Given the description of an element on the screen output the (x, y) to click on. 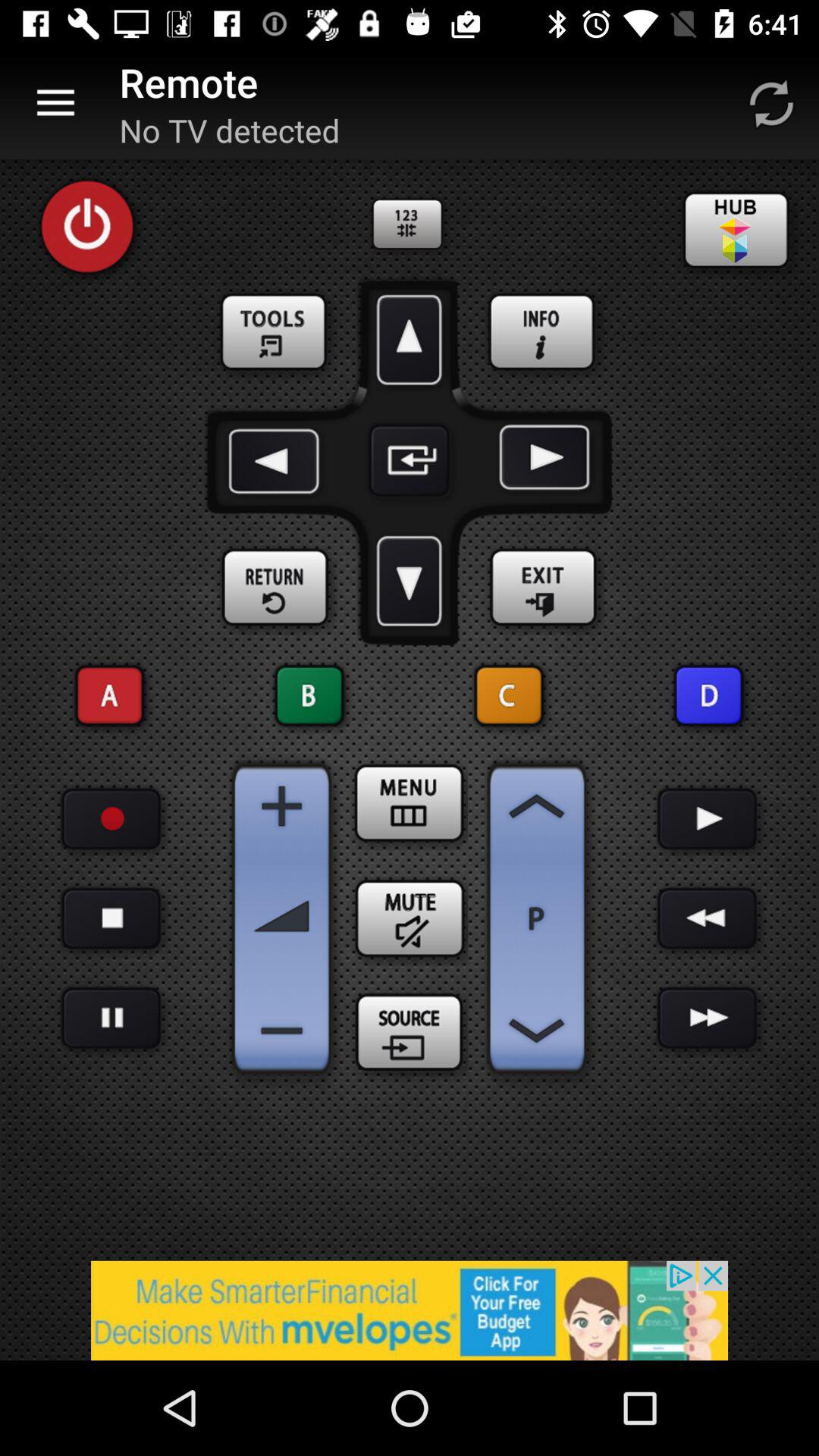
change source (409, 1034)
